Given the description of an element on the screen output the (x, y) to click on. 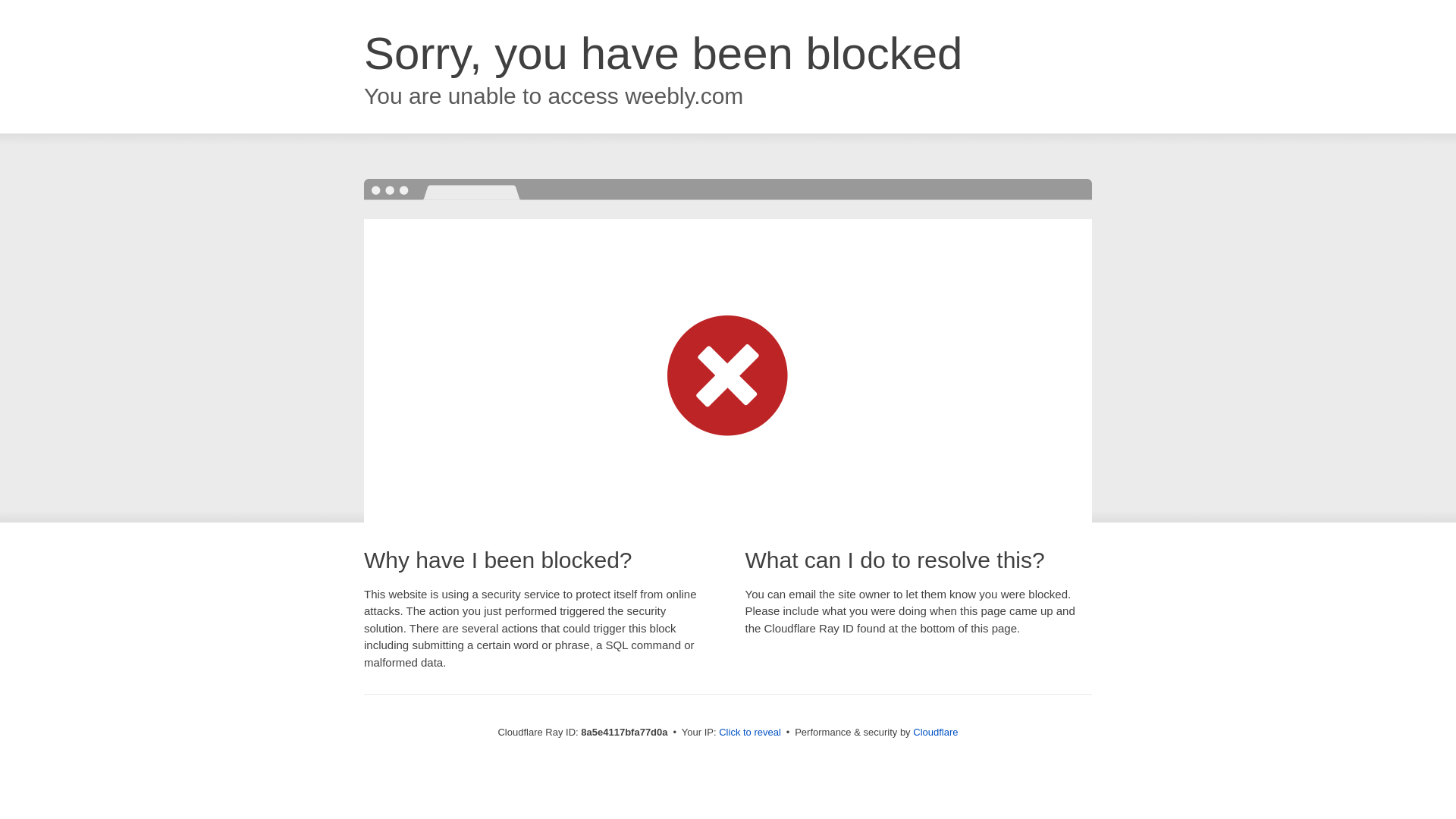
Cloudflare (935, 731)
Click to reveal (749, 732)
